Given the description of an element on the screen output the (x, y) to click on. 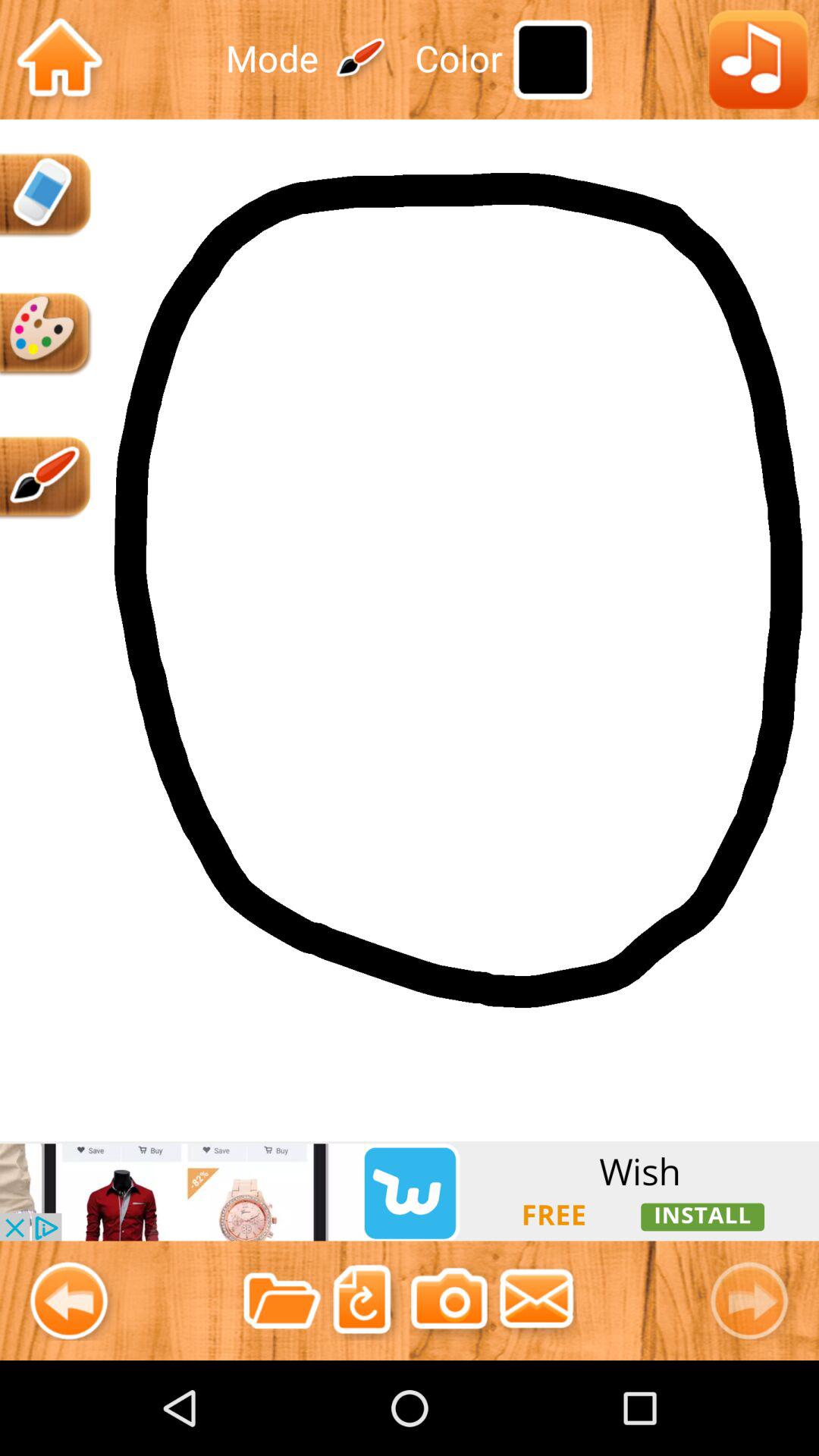
add photo (449, 1300)
